Given the description of an element on the screen output the (x, y) to click on. 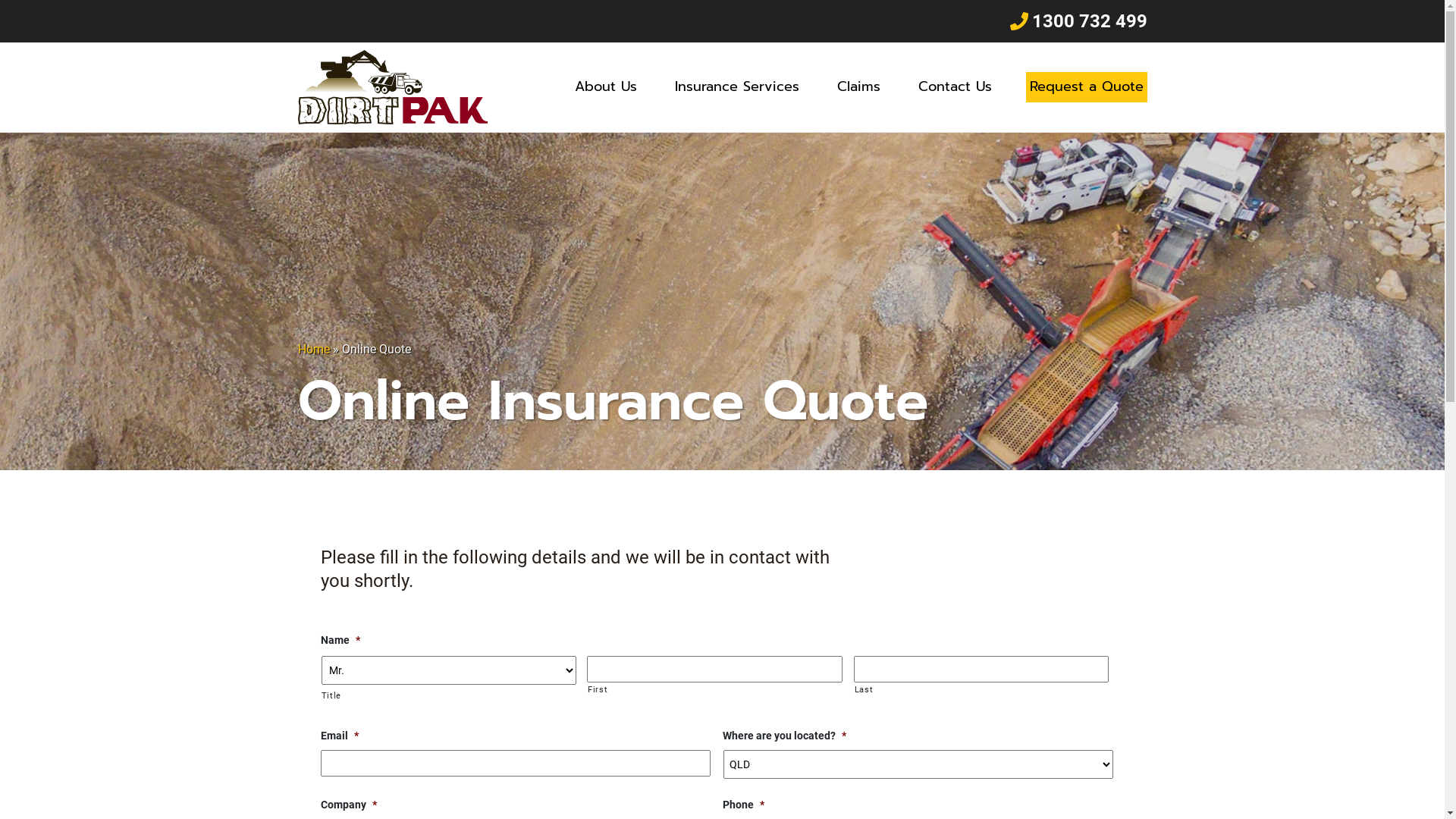
About Us Element type: text (605, 87)
Home Element type: text (313, 349)
1300 732 499 Element type: text (1076, 20)
Claims Element type: text (857, 87)
Contact Us Element type: text (954, 87)
Request a Quote Element type: text (1085, 87)
Insurance Services Element type: text (736, 87)
